Given the description of an element on the screen output the (x, y) to click on. 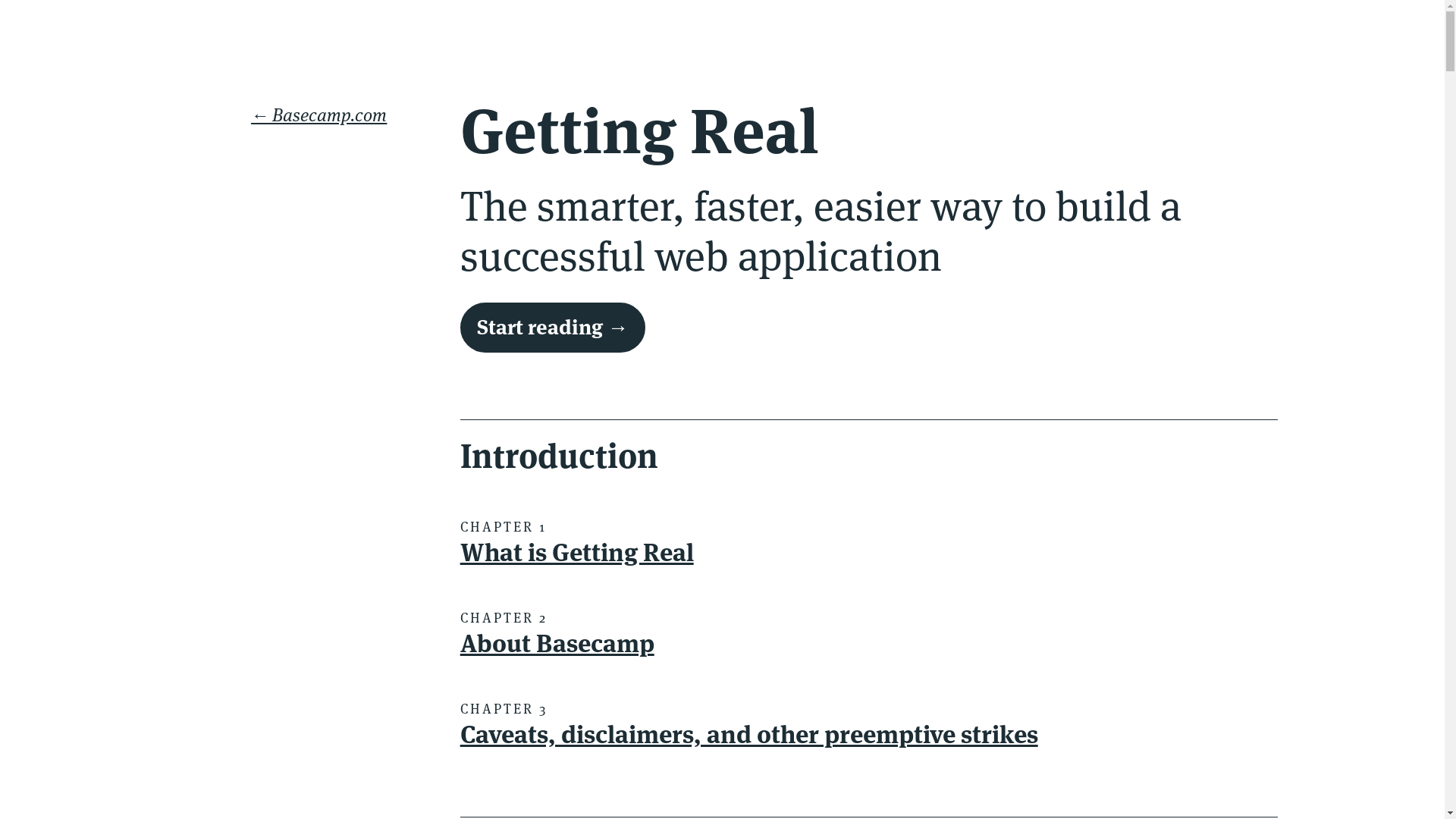
About Basecamp Element type: text (557, 643)
Caveats, disclaimers, and other preemptive strikes Element type: text (749, 734)
What is Getting Real Element type: text (576, 552)
